Given the description of an element on the screen output the (x, y) to click on. 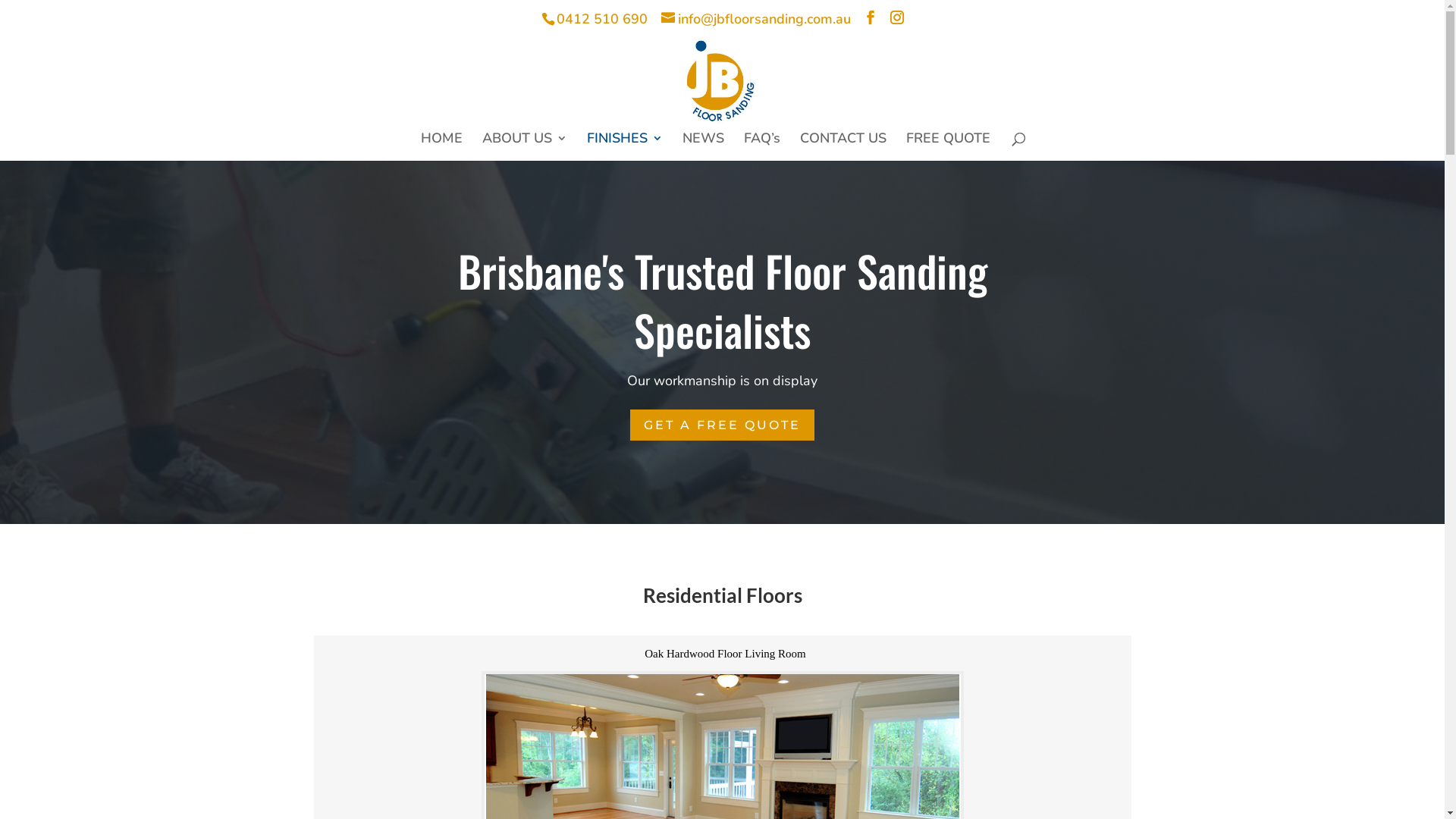
CONTACT US Element type: text (843, 146)
NEWS Element type: text (703, 146)
0412 510 690 Element type: text (601, 18)
info@jbfloorsanding.com.au Element type: text (755, 18)
FREE QUOTE Element type: text (948, 146)
HOME Element type: text (441, 146)
FINISHES Element type: text (624, 146)
GET A FREE QUOTE Element type: text (722, 424)
ABOUT US Element type: text (524, 146)
